Given the description of an element on the screen output the (x, y) to click on. 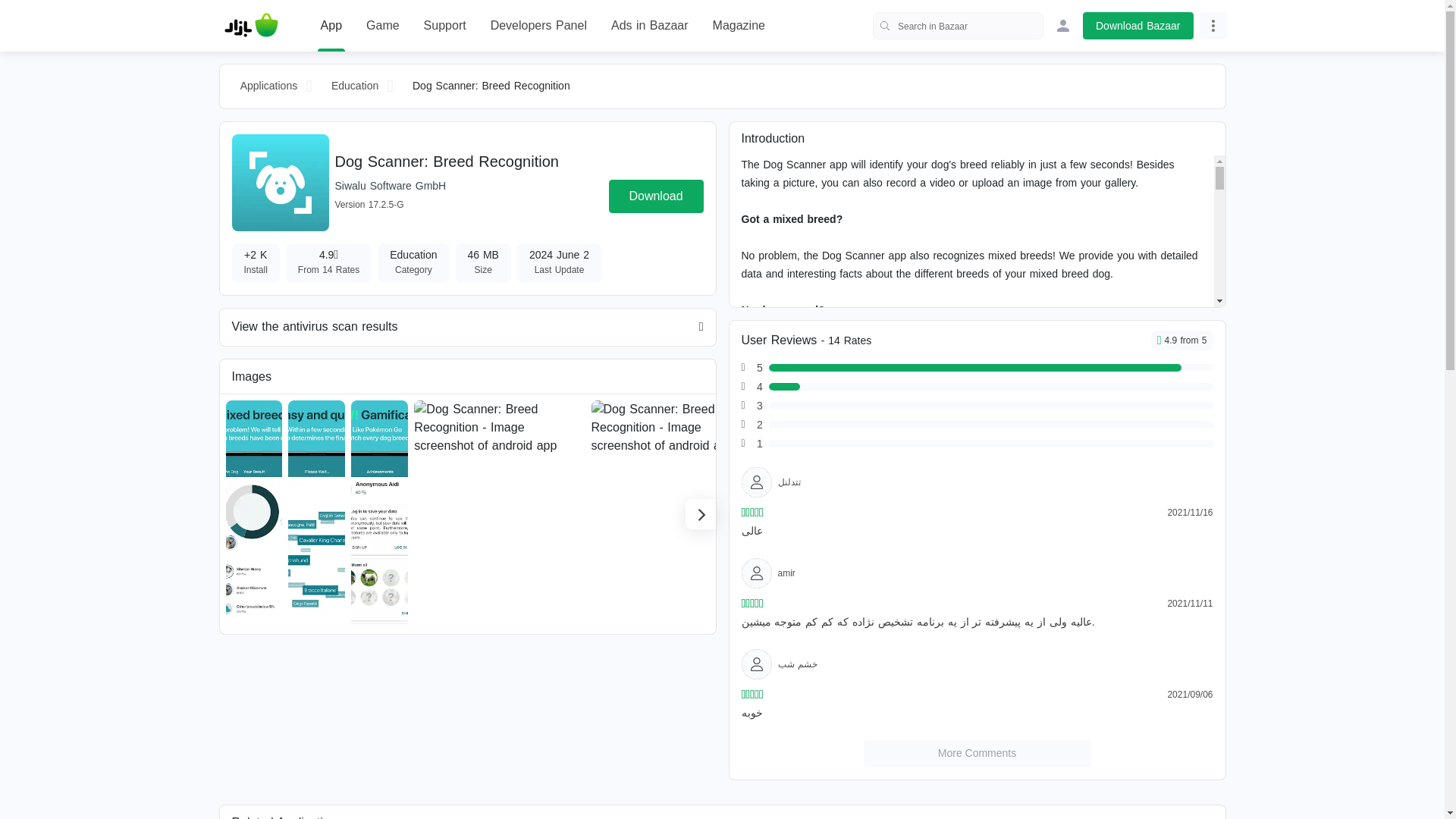
Magazine (739, 25)
Home (250, 25)
Settings Menu (1213, 25)
Education (355, 86)
Download Bazaar (1138, 25)
Applications (268, 86)
Login to Bazaar (1063, 25)
Ads in Bazaar (649, 25)
Support (444, 25)
Developers Panel (538, 25)
